Given the description of an element on the screen output the (x, y) to click on. 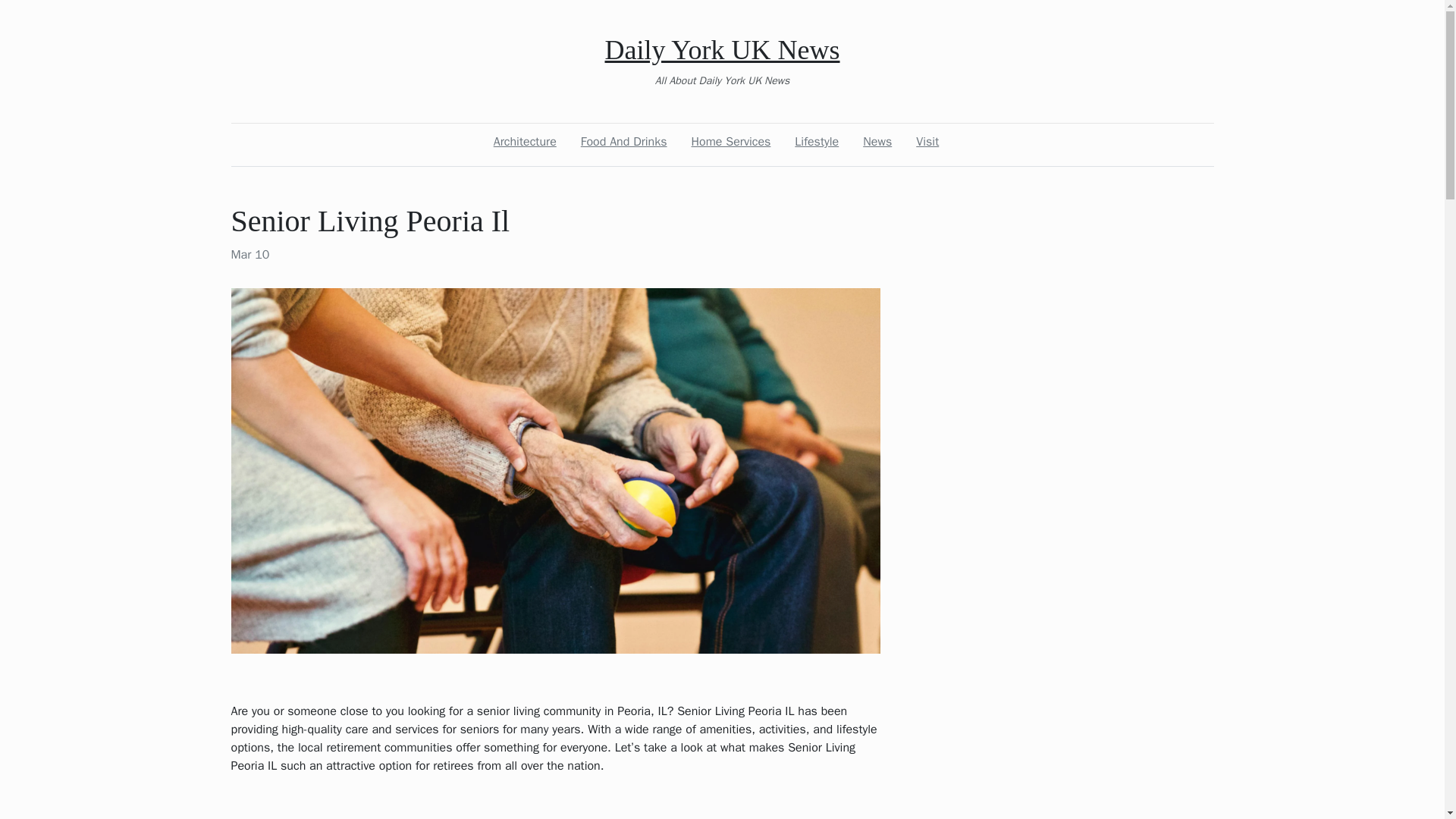
Home Services (731, 141)
Lifestyle (816, 141)
Food And Drinks (623, 141)
Visit (927, 141)
Daily York UK News (722, 50)
Architecture (524, 141)
News (877, 141)
